Given the description of an element on the screen output the (x, y) to click on. 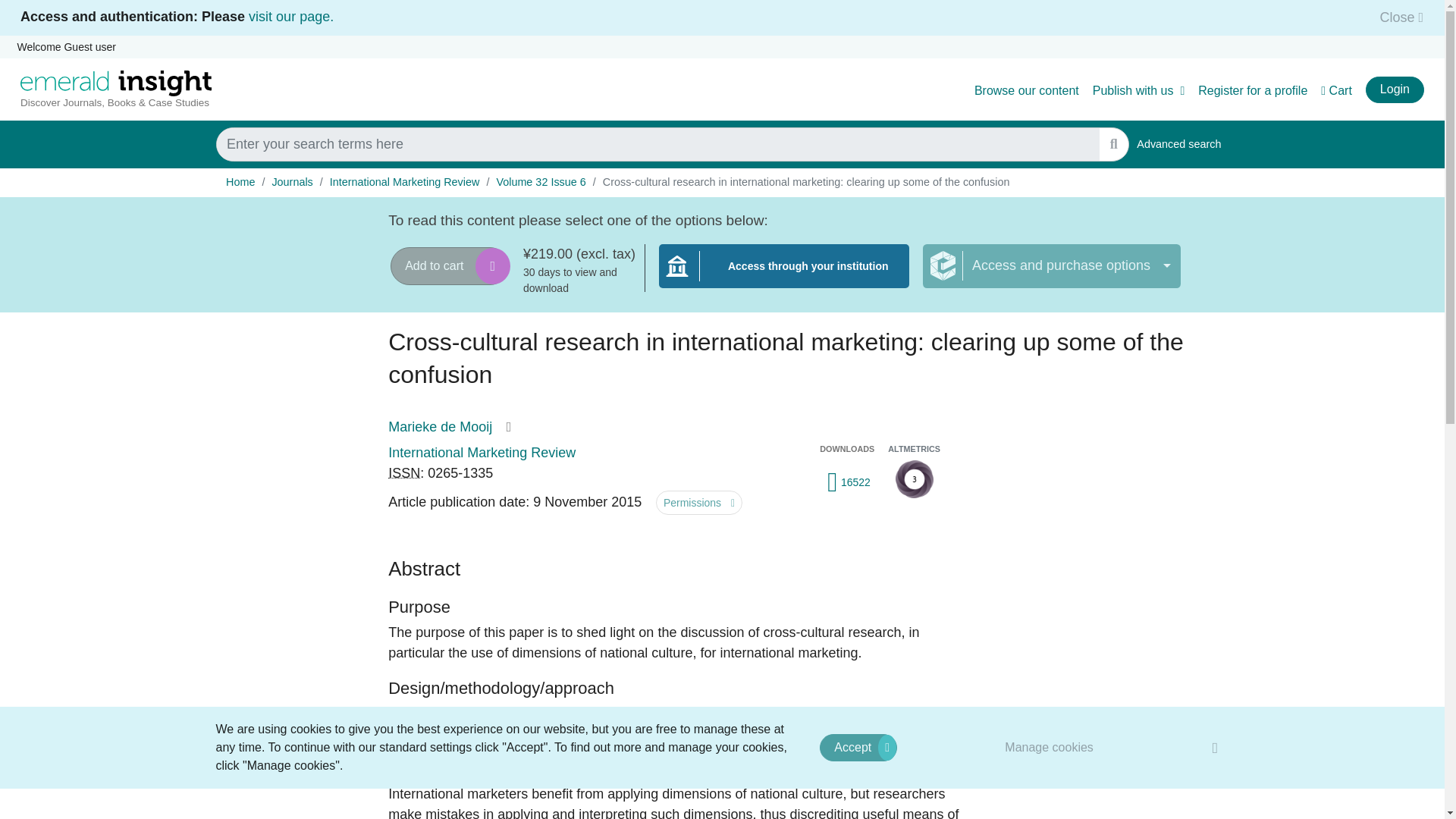
SUBMIT (1113, 143)
Close (1397, 17)
Accept (857, 747)
International Standard Serial Number. (404, 473)
Cart (1336, 90)
Publish with us (1139, 90)
visit our page. (290, 16)
Register for a profile (1252, 90)
Browse our content (1026, 90)
Home (1178, 144)
Login (239, 182)
Journals (1394, 89)
